Given the description of an element on the screen output the (x, y) to click on. 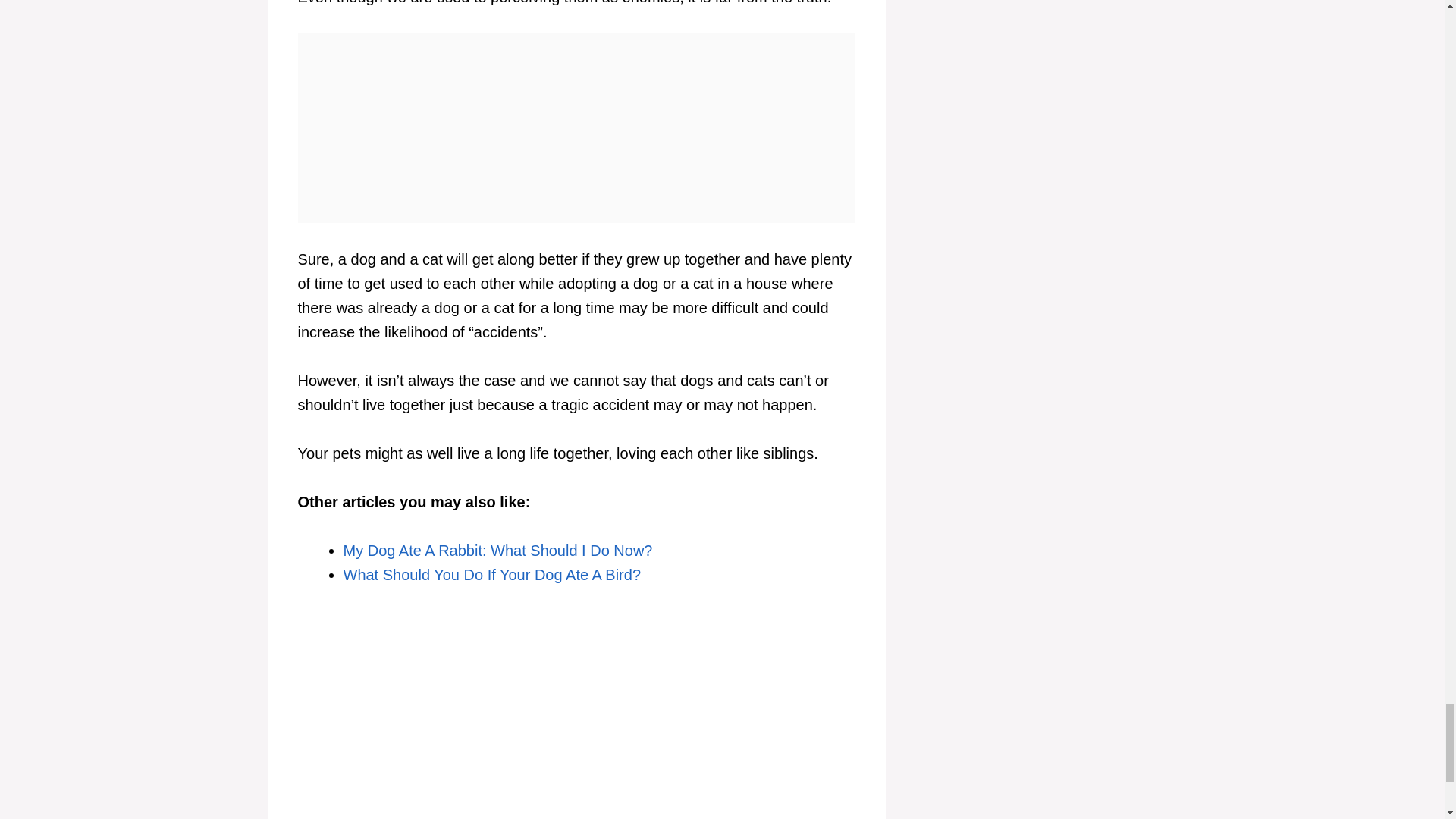
What Should You Do If Your Dog Ate A Bird? (491, 574)
My Dog Ate A Rabbit: What Should I Do Now? (497, 550)
